Given the description of an element on the screen output the (x, y) to click on. 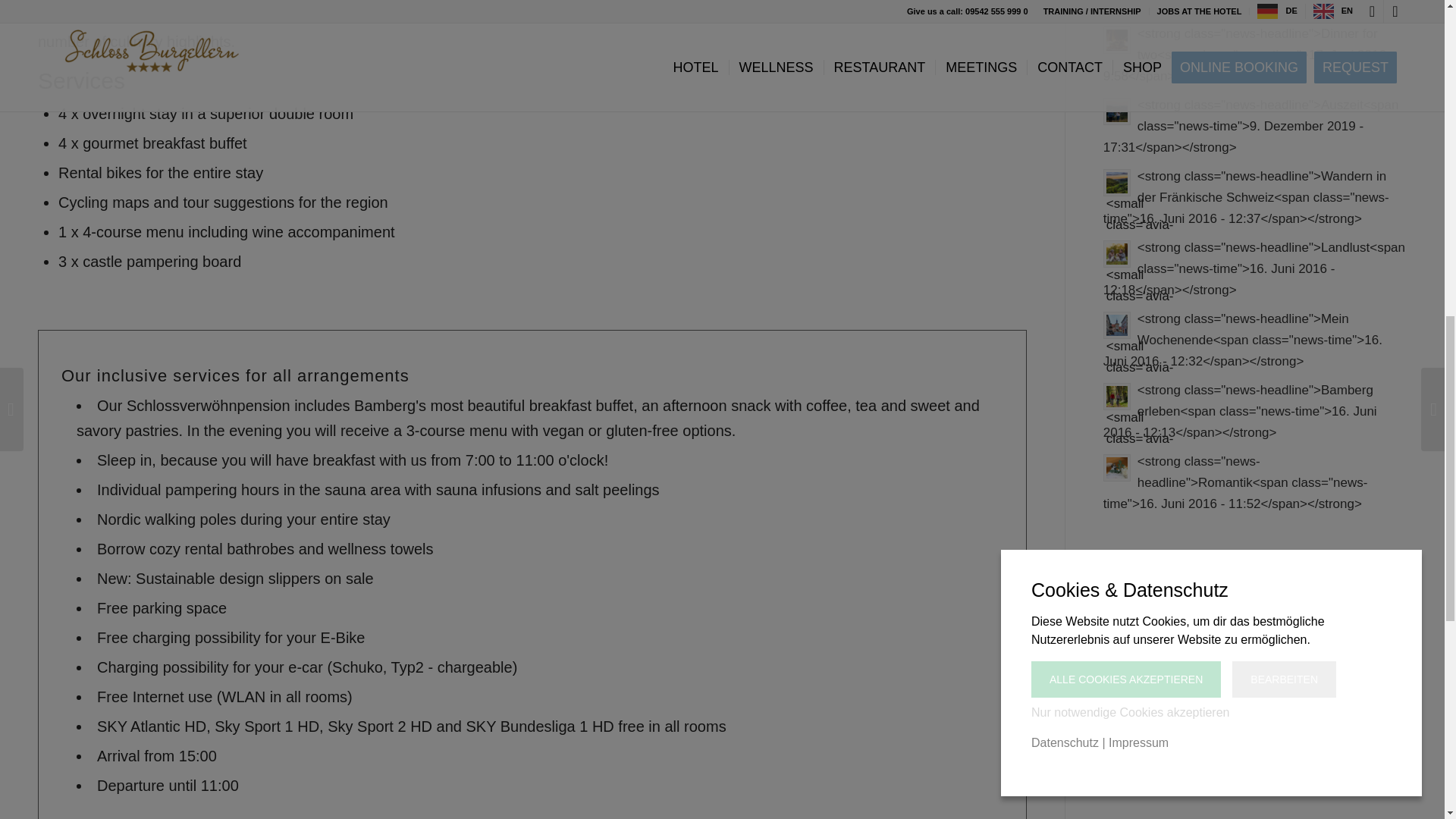
Suite Dreams (1254, 7)
Dinner for two (881, 8)
